Given the description of an element on the screen output the (x, y) to click on. 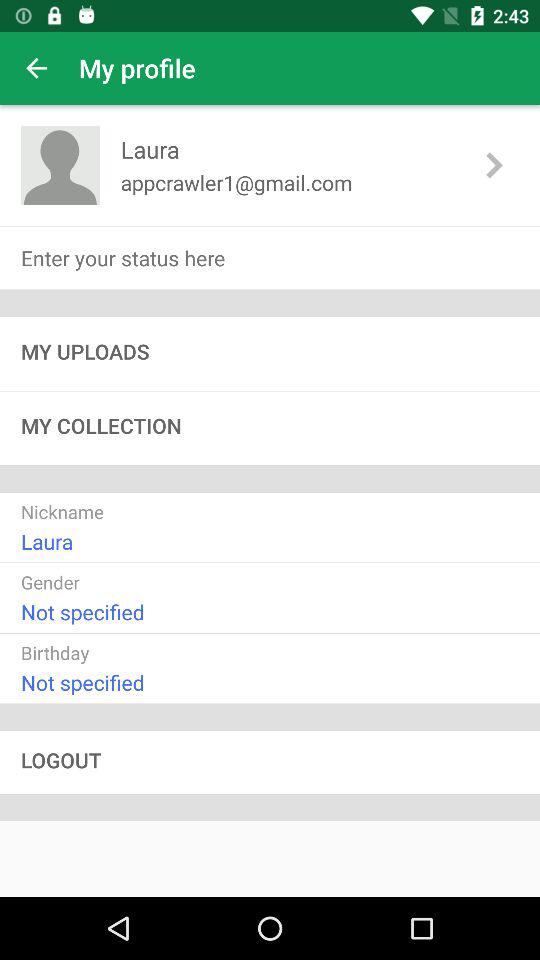
click item to the left of laura item (60, 164)
